Given the description of an element on the screen output the (x, y) to click on. 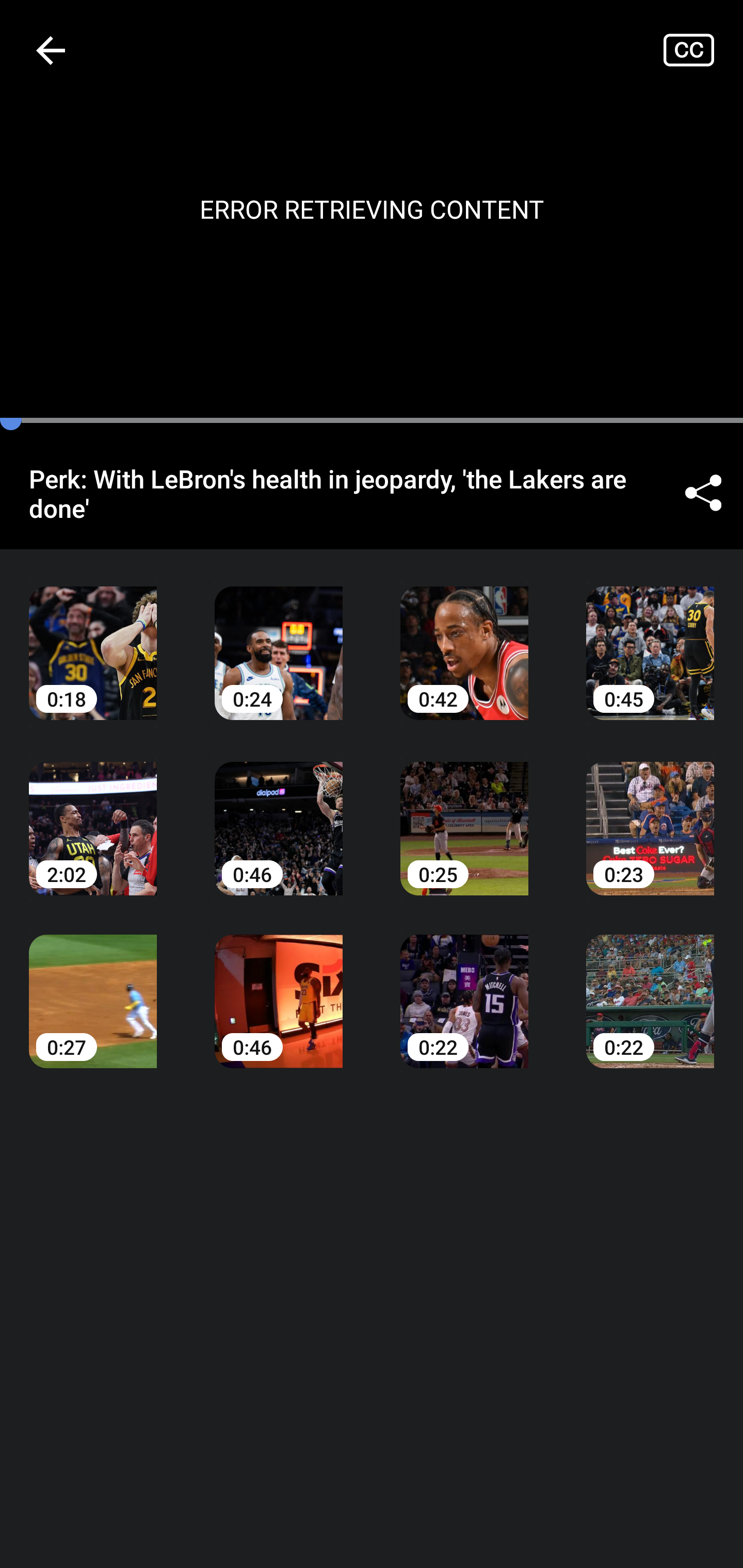
Navigate up (50, 50)
Closed captions  (703, 49)
Share © (703, 493)
0:18 (92, 637)
0:24 (278, 637)
0:42 (464, 637)
0:45 (650, 637)
2:02 (92, 813)
0:46 (278, 813)
0:25 (464, 813)
0:23 (650, 813)
0:27 (92, 987)
0:46 (278, 987)
0:22 (464, 987)
0:22 (650, 987)
